Given the description of an element on the screen output the (x, y) to click on. 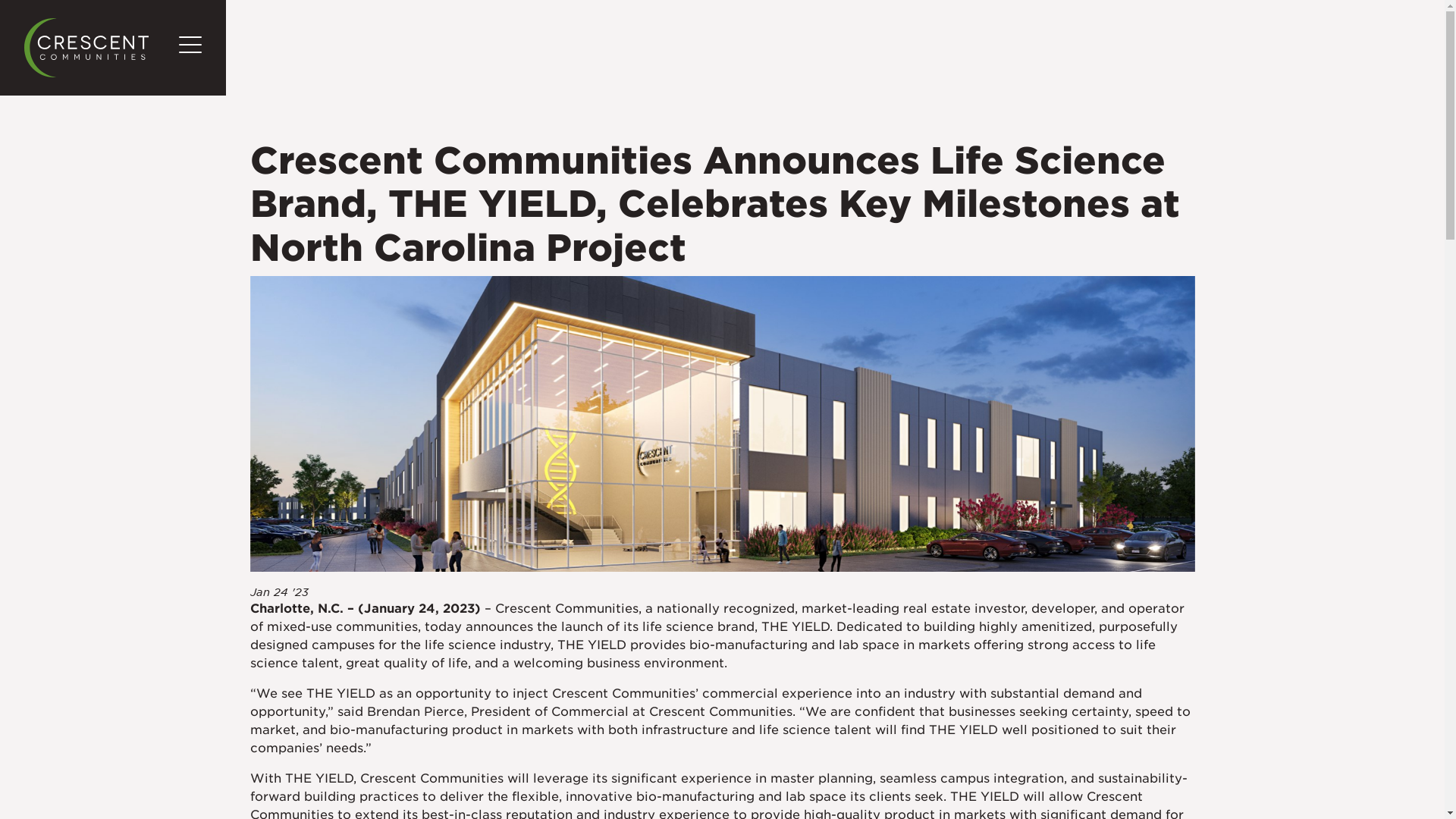
Crescent Communities (86, 47)
